Given the description of an element on the screen output the (x, y) to click on. 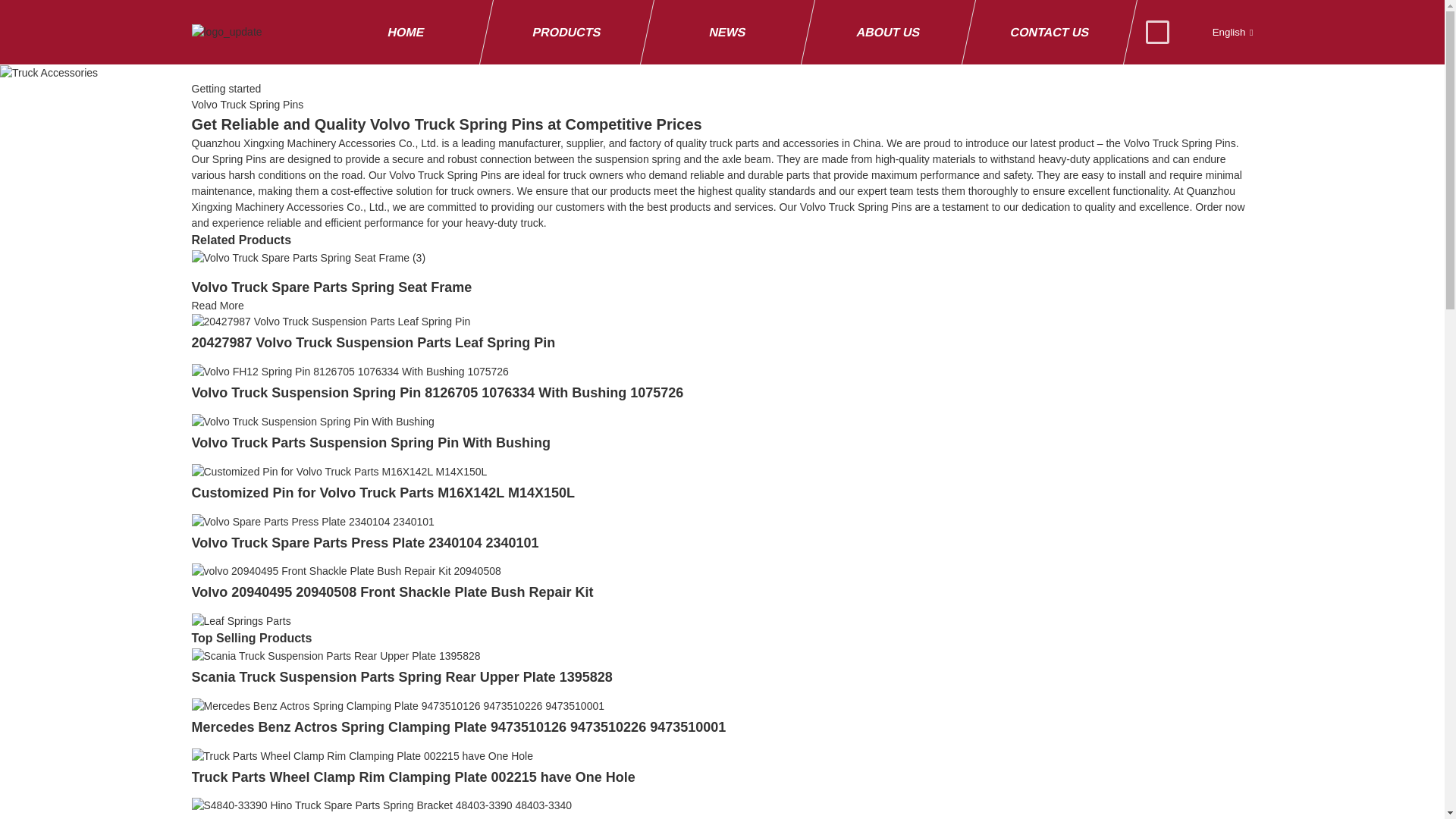
Volvo Truck Spare Parts Spring Seat Frame (216, 305)
NEWS (721, 32)
Getting started (225, 88)
20427987 Volvo Truck Suspension Parts Leaf Spring Pin (372, 342)
HOME (399, 32)
Customized Pin for Volvo Truck Parts M16X142L M14X150L (338, 470)
Volvo Truck Spare Parts Spring Seat Frame (330, 287)
Volvo Truck Spare Parts Press Plate 2340104 2340101 (364, 542)
Volvo Truck Parts Suspension Spring Pin With Bushing (311, 420)
20427987 Volvo Truck Suspension Parts Leaf Spring Pin (330, 321)
Volvo Truck Spare Parts Press Plate 2340104 2340101 (311, 521)
Volvo Truck Parts Suspension Spring Pin With Bushing (370, 442)
Read More (216, 305)
